Given the description of an element on the screen output the (x, y) to click on. 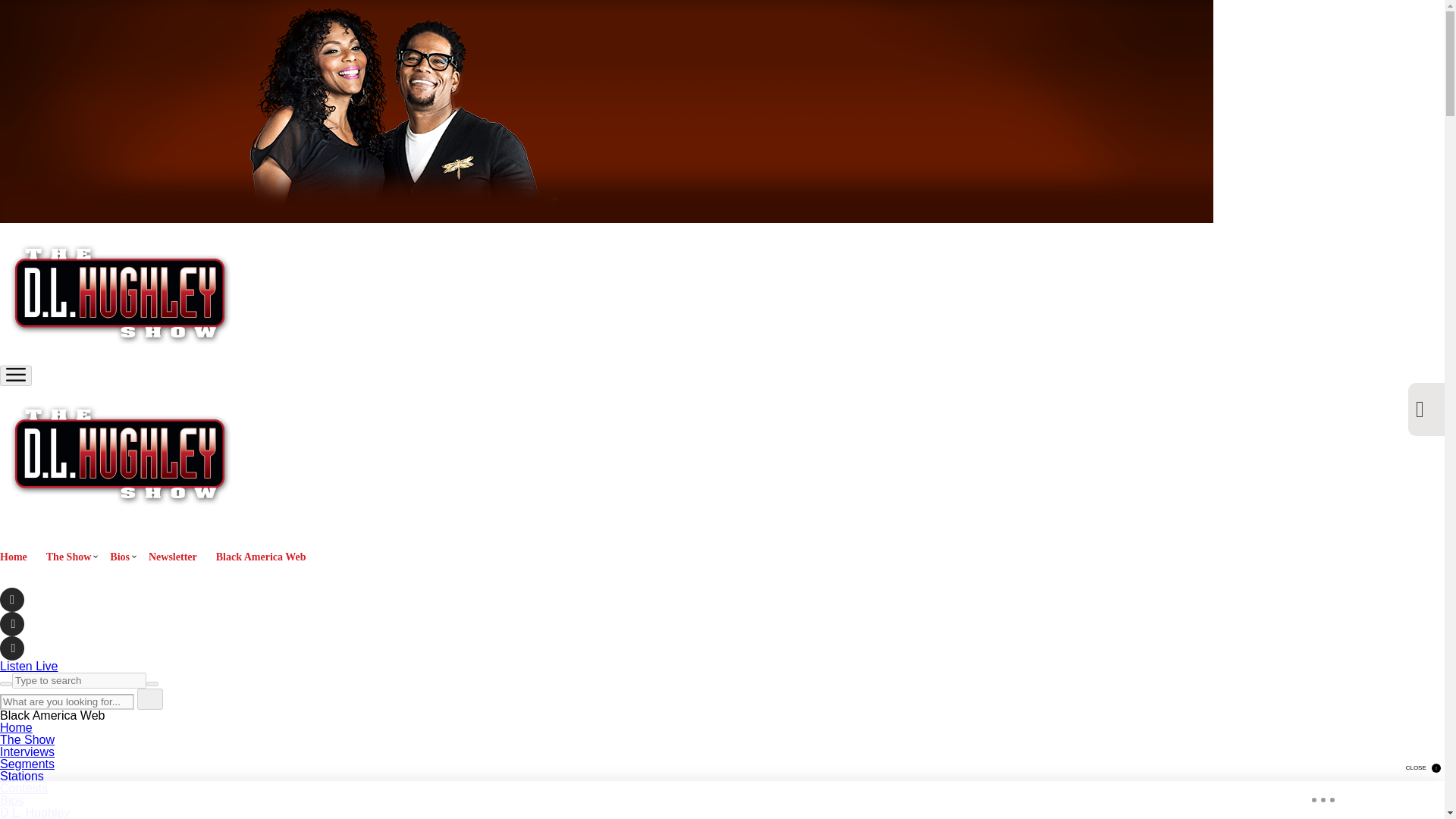
Segments (27, 763)
Interviews (27, 751)
Facebook (12, 599)
Youtube (12, 648)
The Show (27, 739)
Bios (11, 799)
Open menu (16, 375)
D.L. Hughley (34, 812)
Black America Web (260, 557)
